Given the description of an element on the screen output the (x, y) to click on. 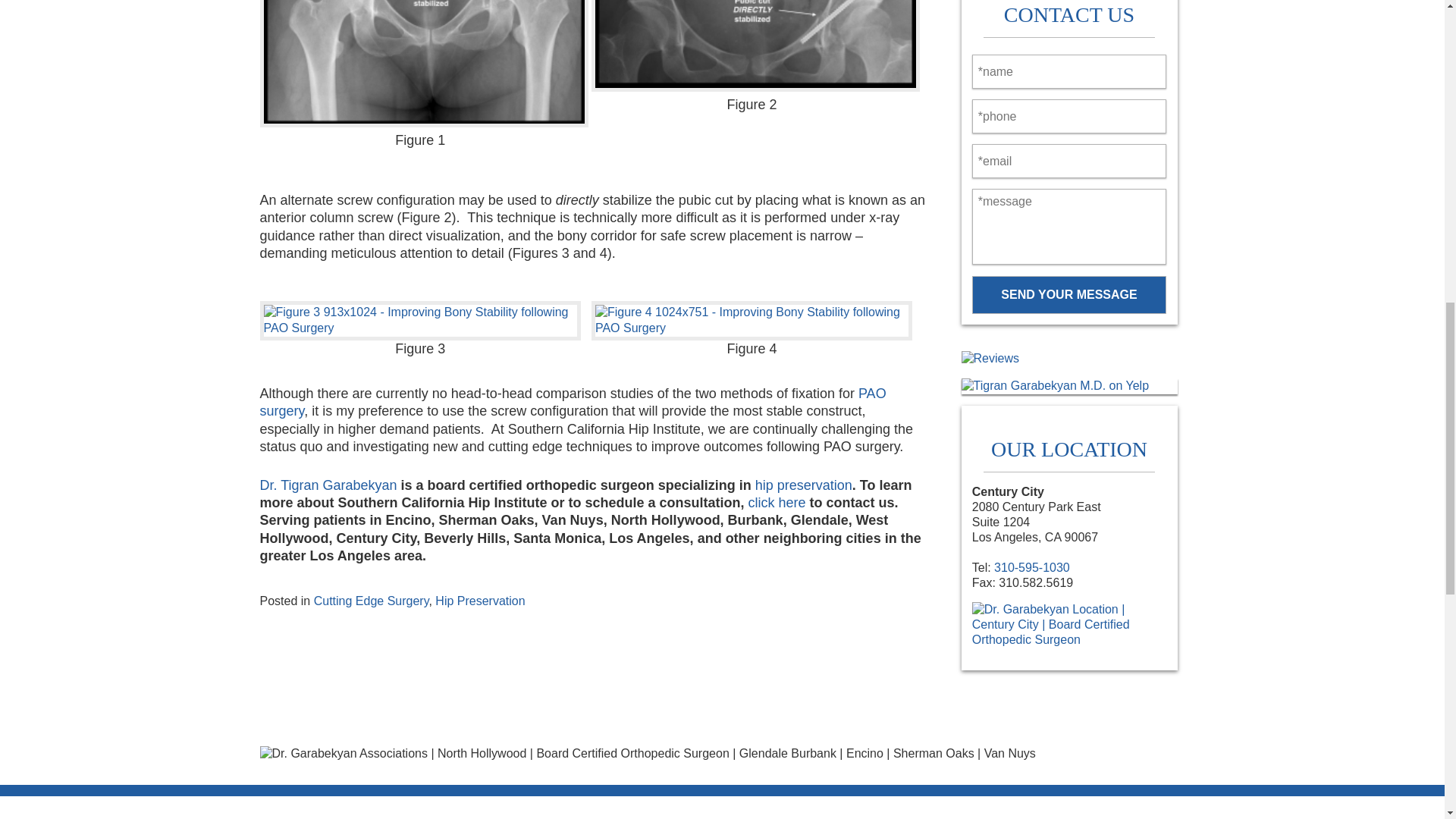
Improving Bony Stability following PAO Surgery (423, 63)
Send Your Message (1069, 294)
Improving Bony Stability following PAO Surgery (755, 46)
Improving Bony Stability following PAO Surgery (751, 320)
Improving Bony Stability following PAO Surgery (419, 320)
